Given the description of an element on the screen output the (x, y) to click on. 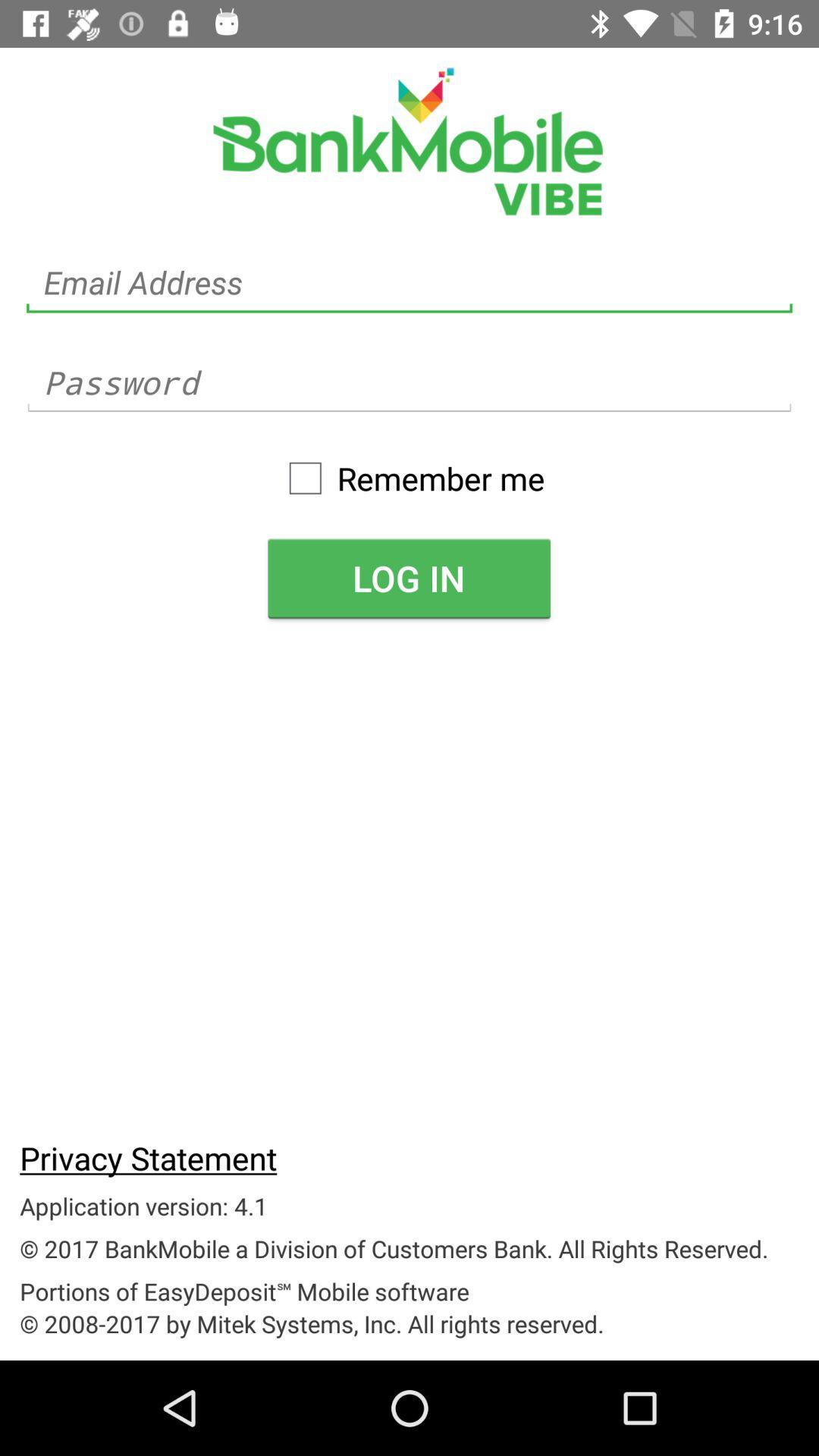
jump until the remember me item (408, 478)
